Given the description of an element on the screen output the (x, y) to click on. 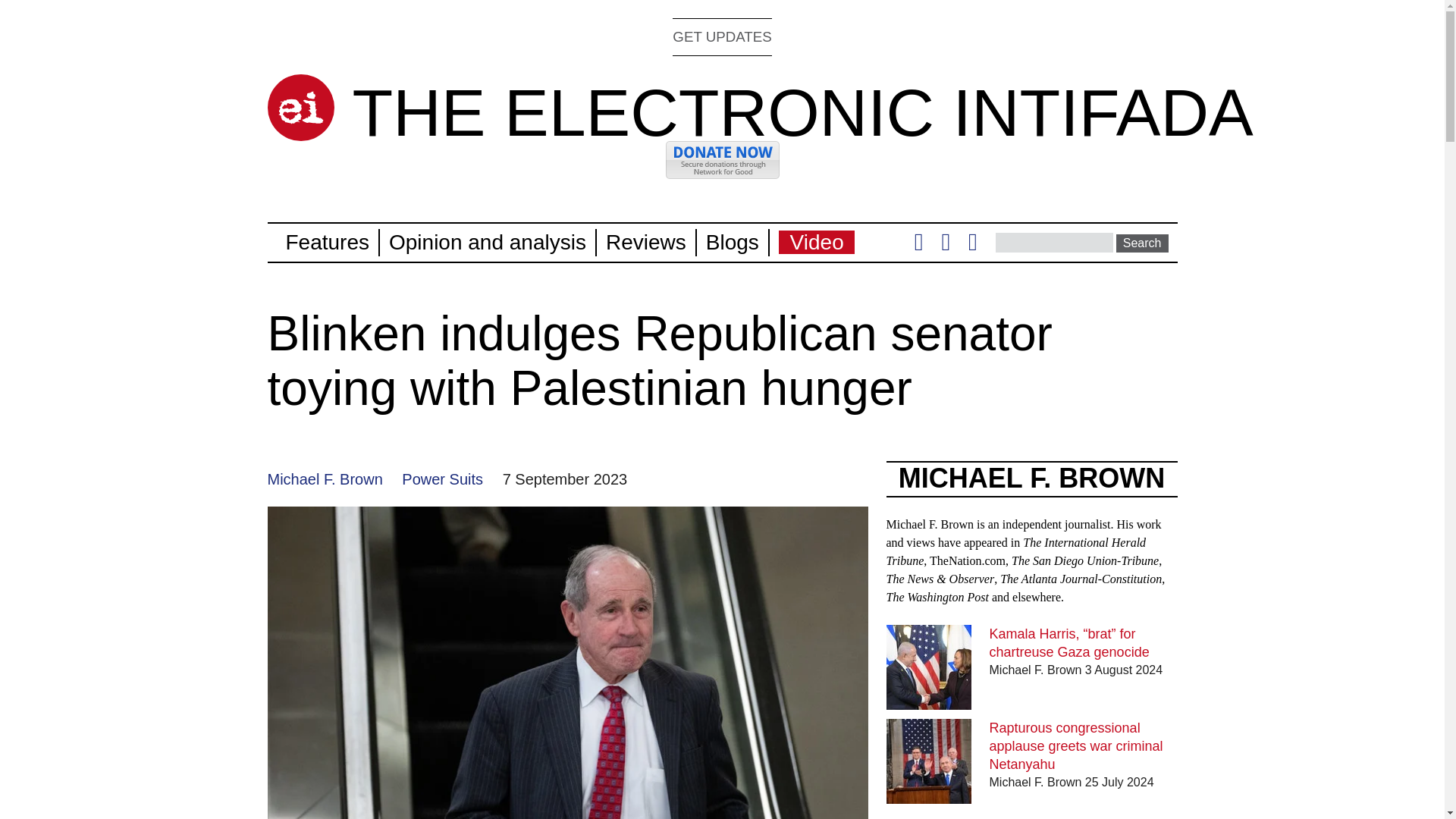
GET UPDATES (721, 37)
Search (1142, 243)
Michael F. Brown (323, 478)
Home (299, 107)
Enter the terms you wish to search for. (1054, 242)
THE ELECTRONIC INTIFADA (802, 112)
Power Suits (442, 478)
Home (802, 112)
